Given the description of an element on the screen output the (x, y) to click on. 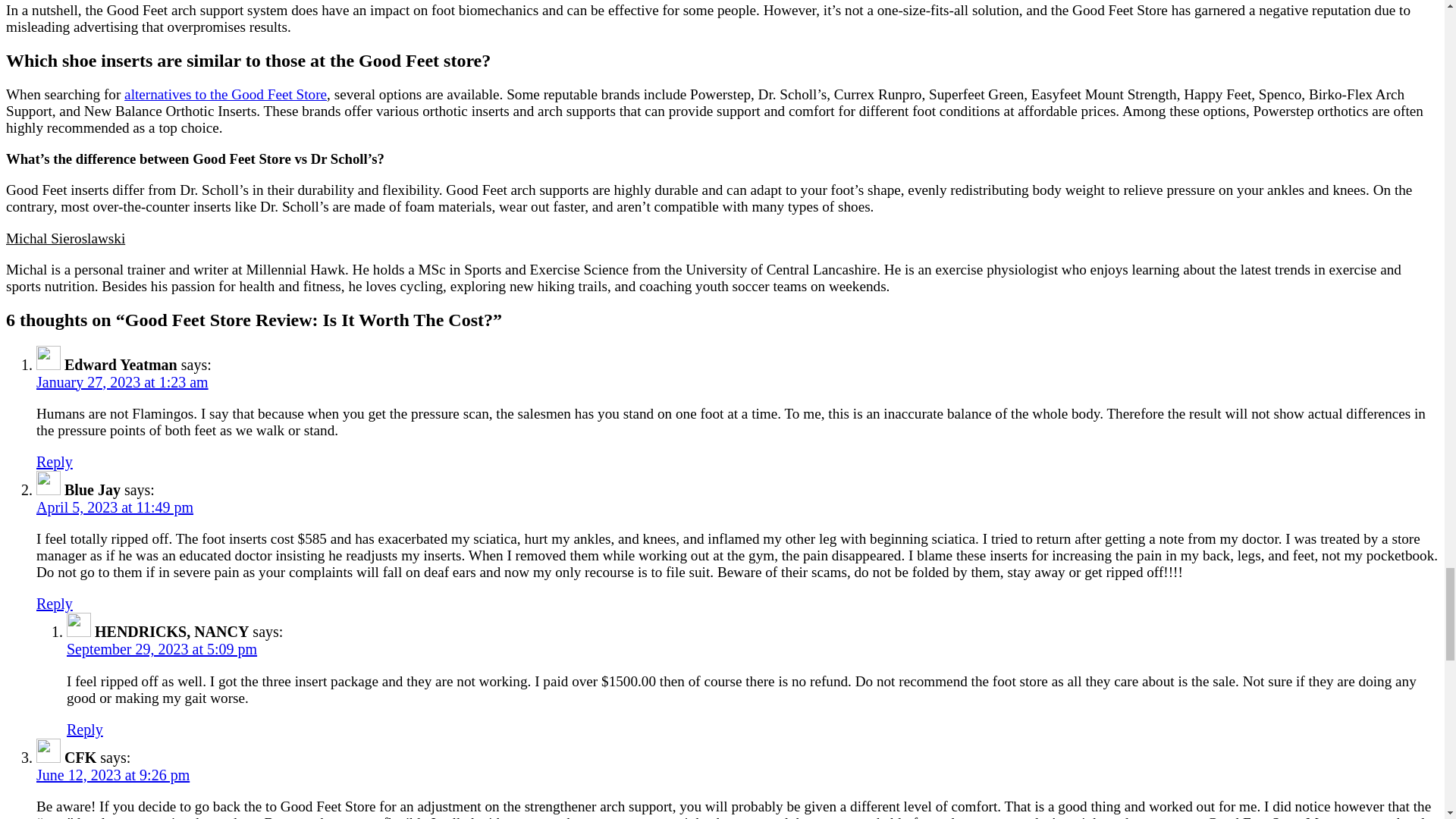
April 5, 2023 at 11:49 pm (114, 506)
Reply (54, 603)
Reply (54, 461)
June 12, 2023 at 9:26 pm (112, 774)
January 27, 2023 at 1:23 am (122, 381)
Reply (84, 729)
alternatives to the Good Feet Store (224, 94)
Michal Sieroslawski (65, 238)
September 29, 2023 at 5:09 pm (161, 648)
